Given the description of an element on the screen output the (x, y) to click on. 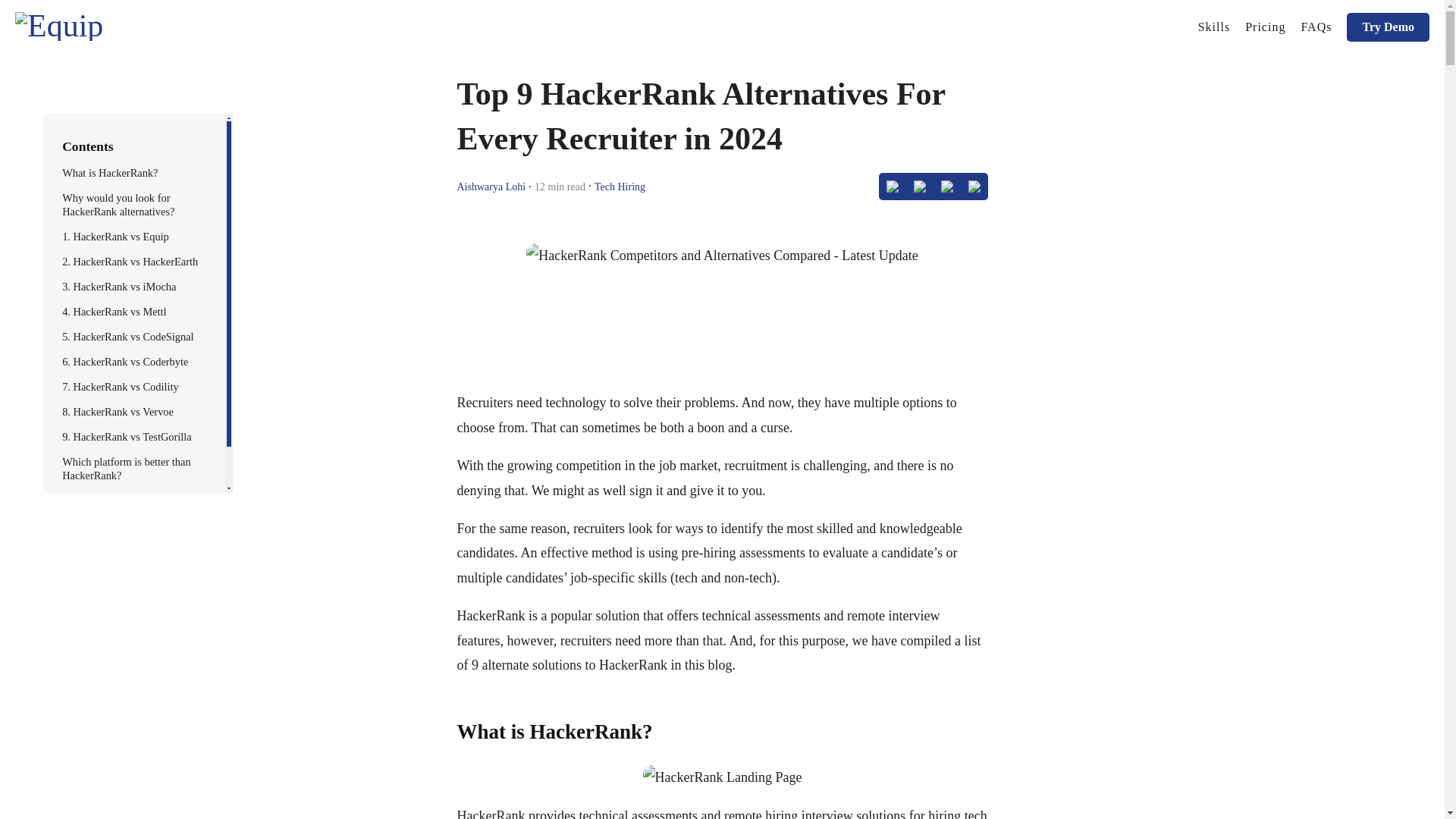
What is HackerRank?   (112, 173)
FAQs (1315, 26)
Try Demo (1388, 26)
Try Demo (1387, 26)
9. HackerRank vs TestGorilla (127, 436)
4. HackerRank vs Mettl (113, 311)
1. HackerRank vs Equip (115, 236)
Tech Hiring (619, 185)
Aishwarya Lohi (491, 185)
3. HackerRank vs iMocha (119, 286)
